Given the description of an element on the screen output the (x, y) to click on. 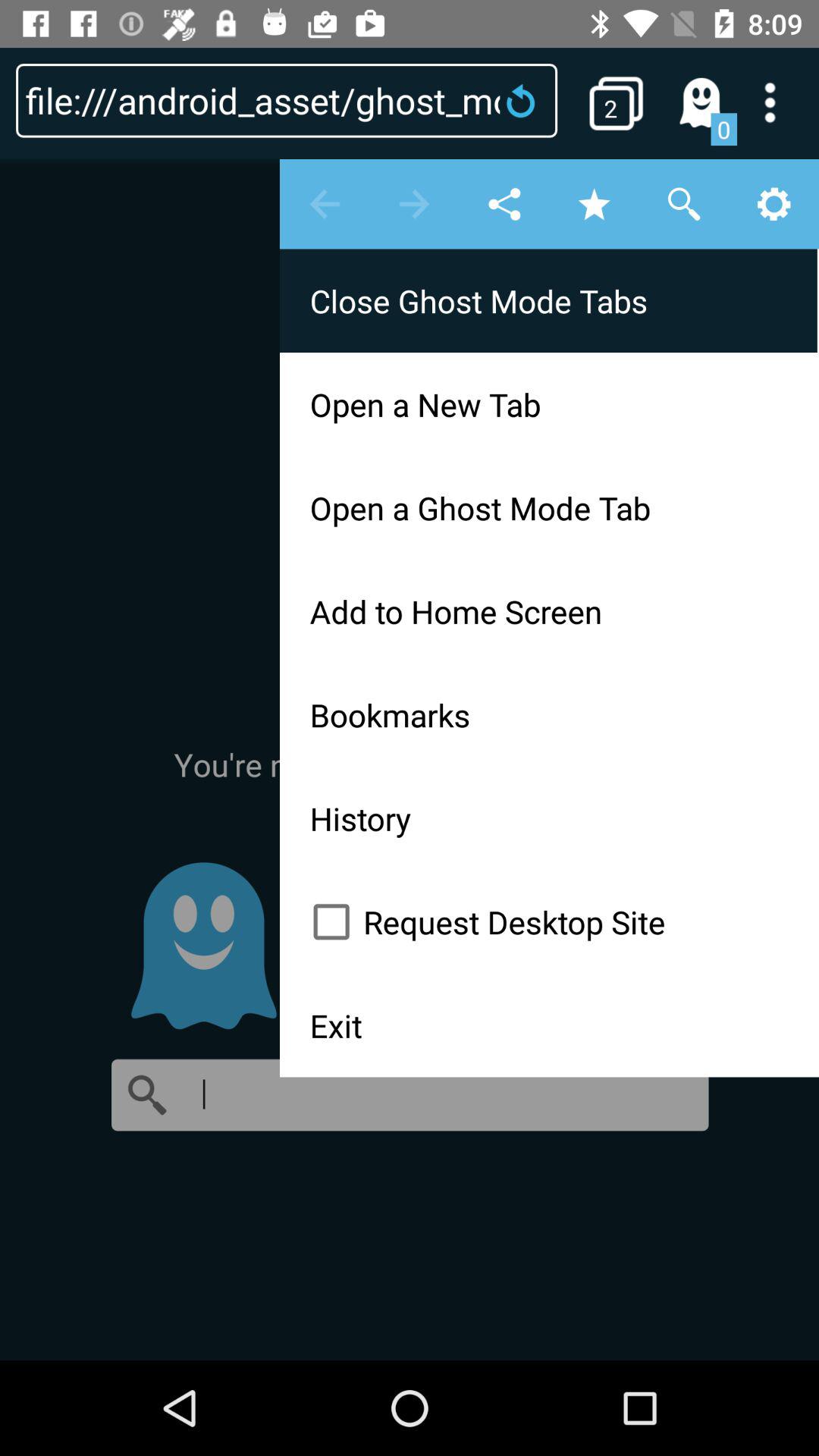
turn on the icon below 0 (409, 758)
